Given the description of an element on the screen output the (x, y) to click on. 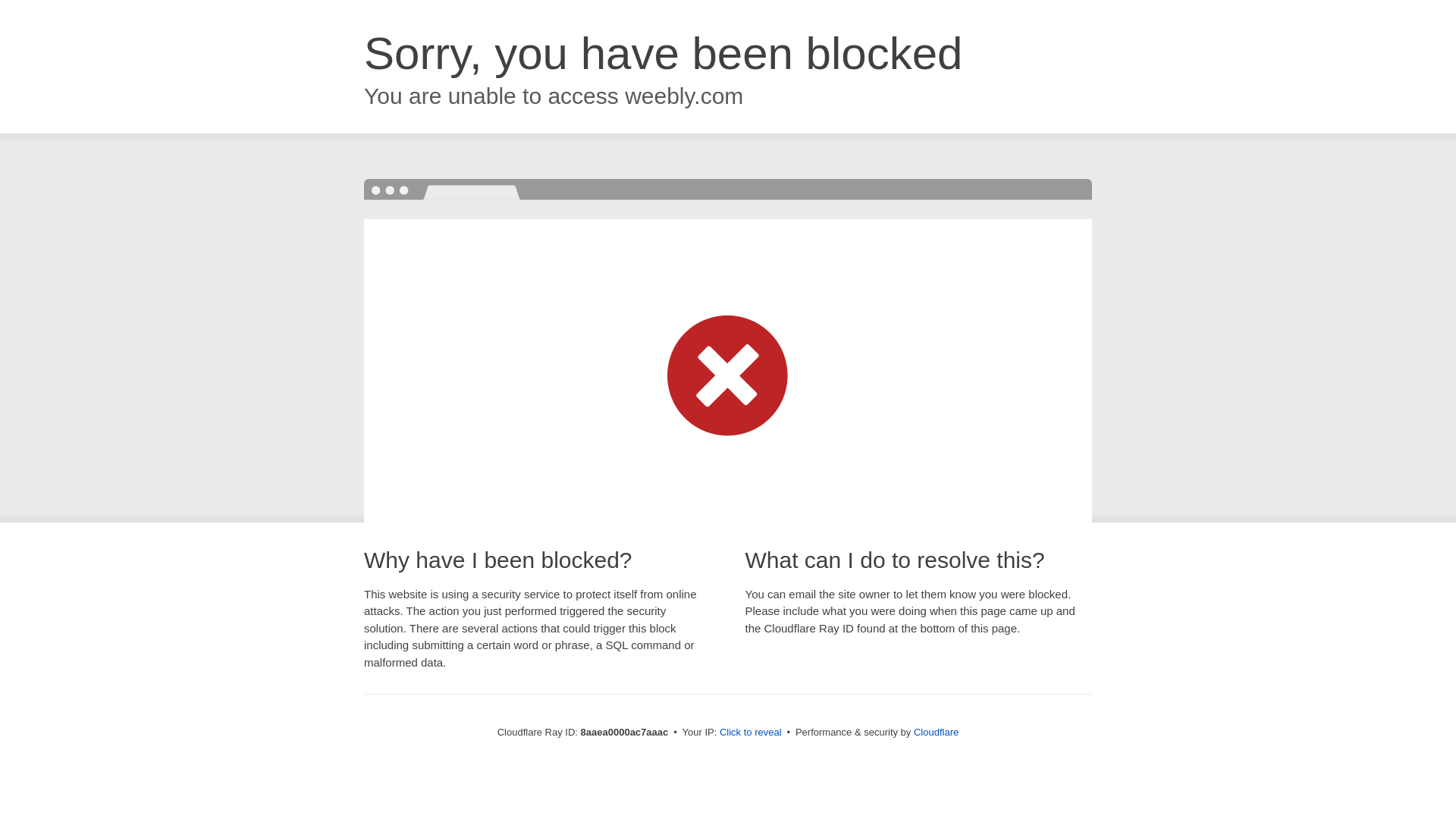
Click to reveal (750, 732)
Cloudflare (936, 731)
